Given the description of an element on the screen output the (x, y) to click on. 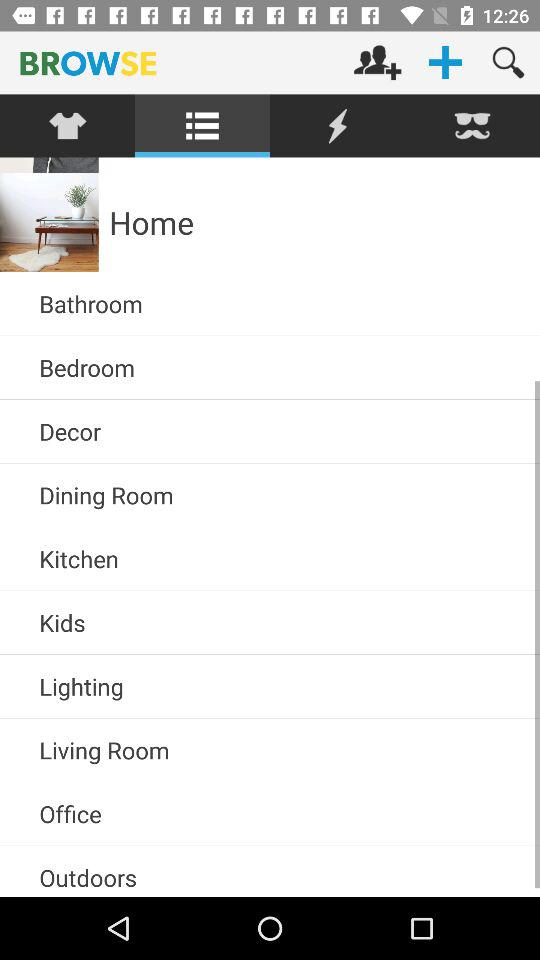
accessories option (67, 125)
